Given the description of an element on the screen output the (x, y) to click on. 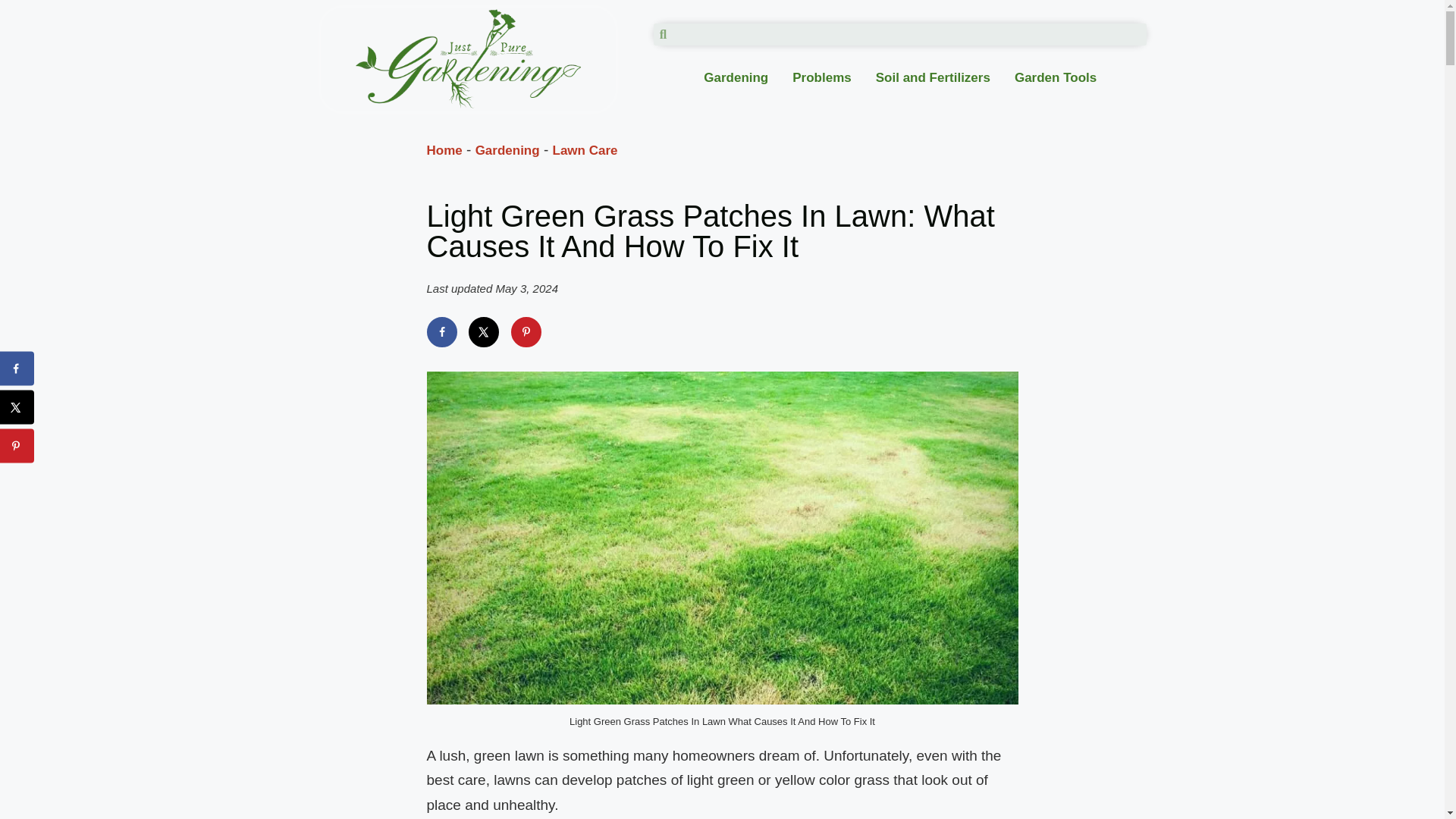
Gardening (508, 150)
Garden Tools (1055, 77)
Problems (821, 77)
Save to Pinterest (526, 331)
Home (443, 150)
Save to Pinterest (16, 446)
Share on Facebook (16, 368)
Share on X (483, 331)
Lawn Care (585, 150)
Soil and Fertilizers (933, 77)
